Given the description of an element on the screen output the (x, y) to click on. 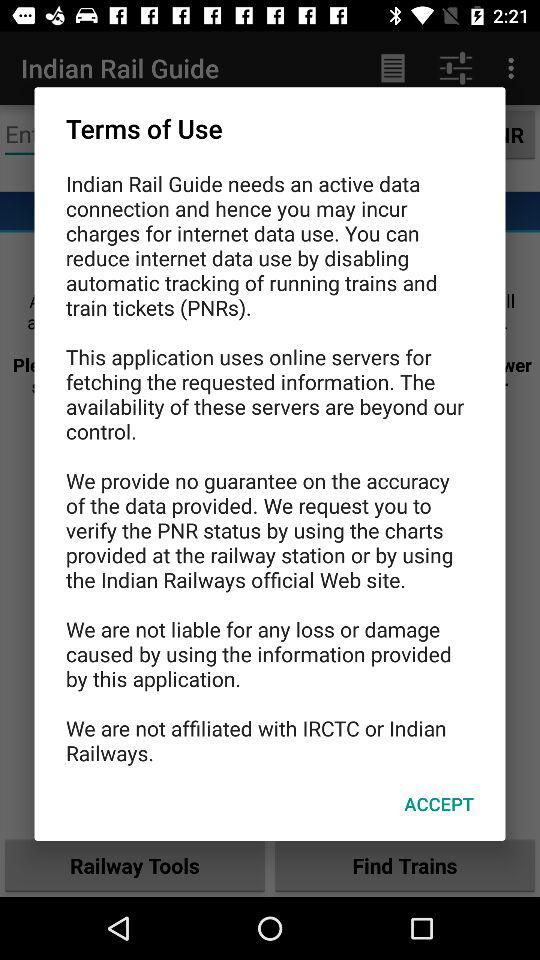
select the icon below the indian rail guide (438, 803)
